Given the description of an element on the screen output the (x, y) to click on. 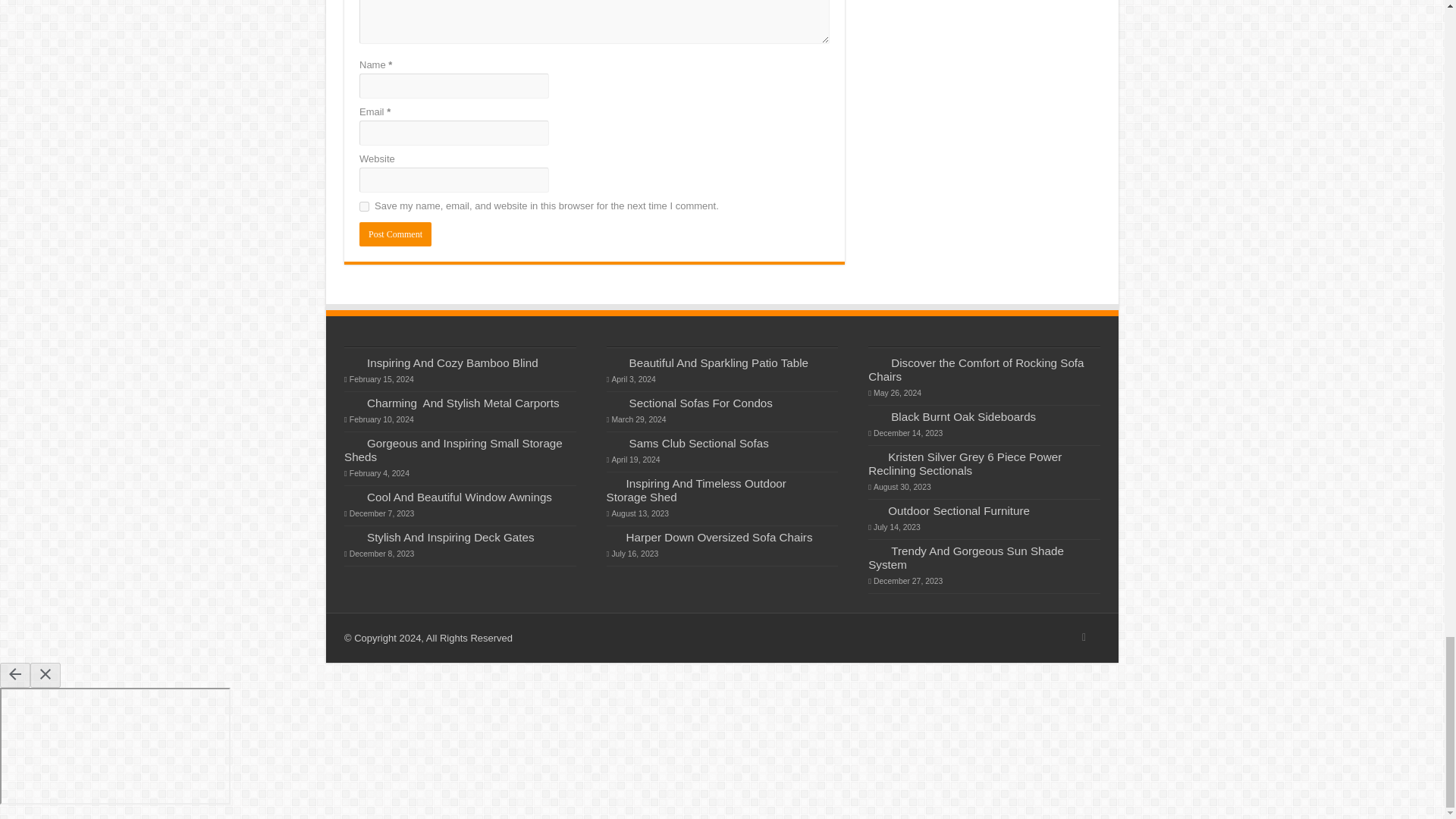
Post Comment (394, 233)
yes (364, 206)
